Given the description of an element on the screen output the (x, y) to click on. 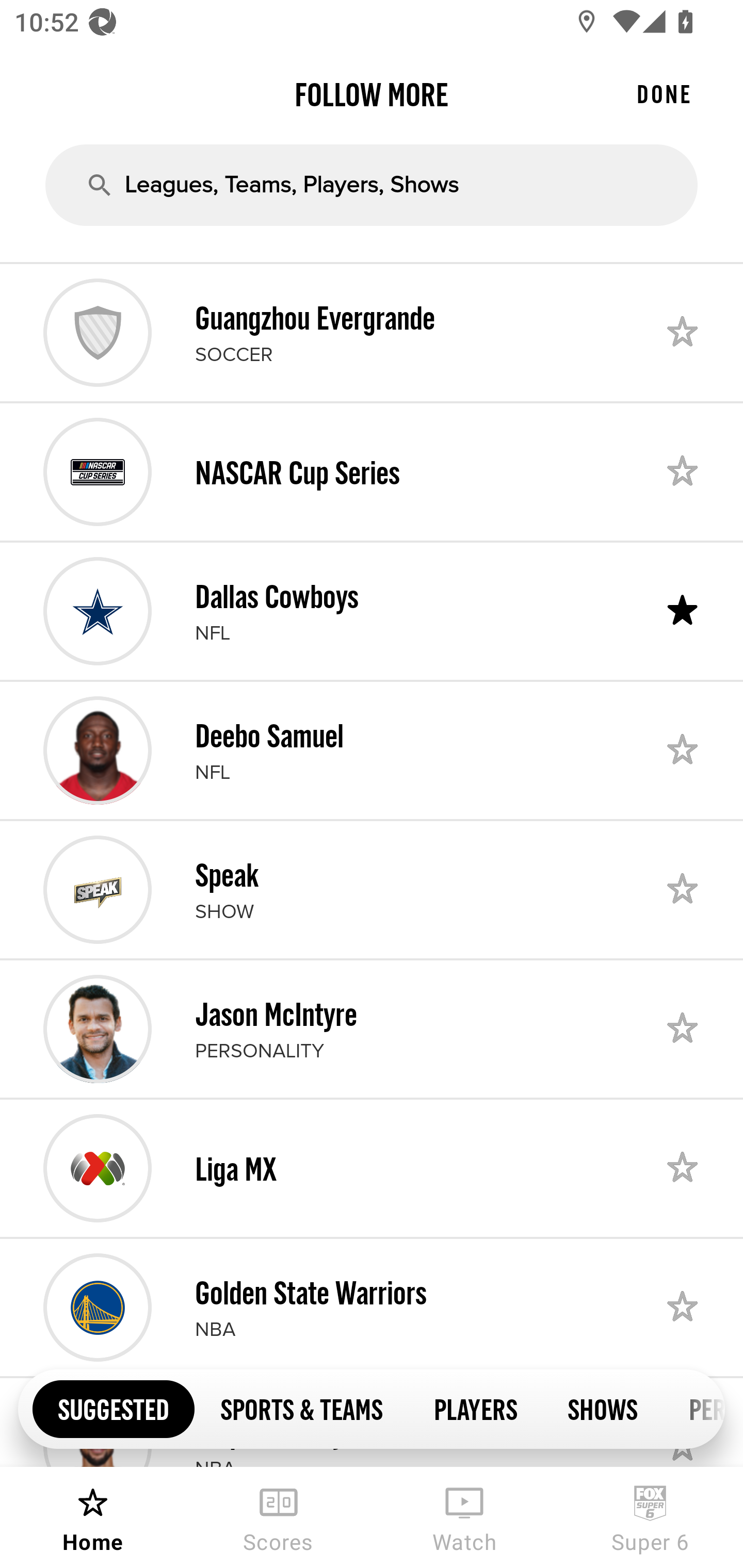
DONE (663, 93)
Leagues, Teams, Players, Shows (371, 184)
Guangzhou Evergrande SOCCER (371, 332)
NASCAR Cup Series (371, 471)
Dallas Cowboys NFL (371, 611)
Deebo Samuel NFL (371, 750)
Speak SHOW (371, 889)
Jason McIntyre PERSONALITY (371, 1028)
Liga MX (371, 1168)
Golden State Warriors NBA (371, 1307)
SPORTS & TEAMS (300, 1408)
PLAYERS (474, 1408)
SHOWS (602, 1408)
Scores (278, 1517)
Watch (464, 1517)
Super 6 (650, 1517)
